Given the description of an element on the screen output the (x, y) to click on. 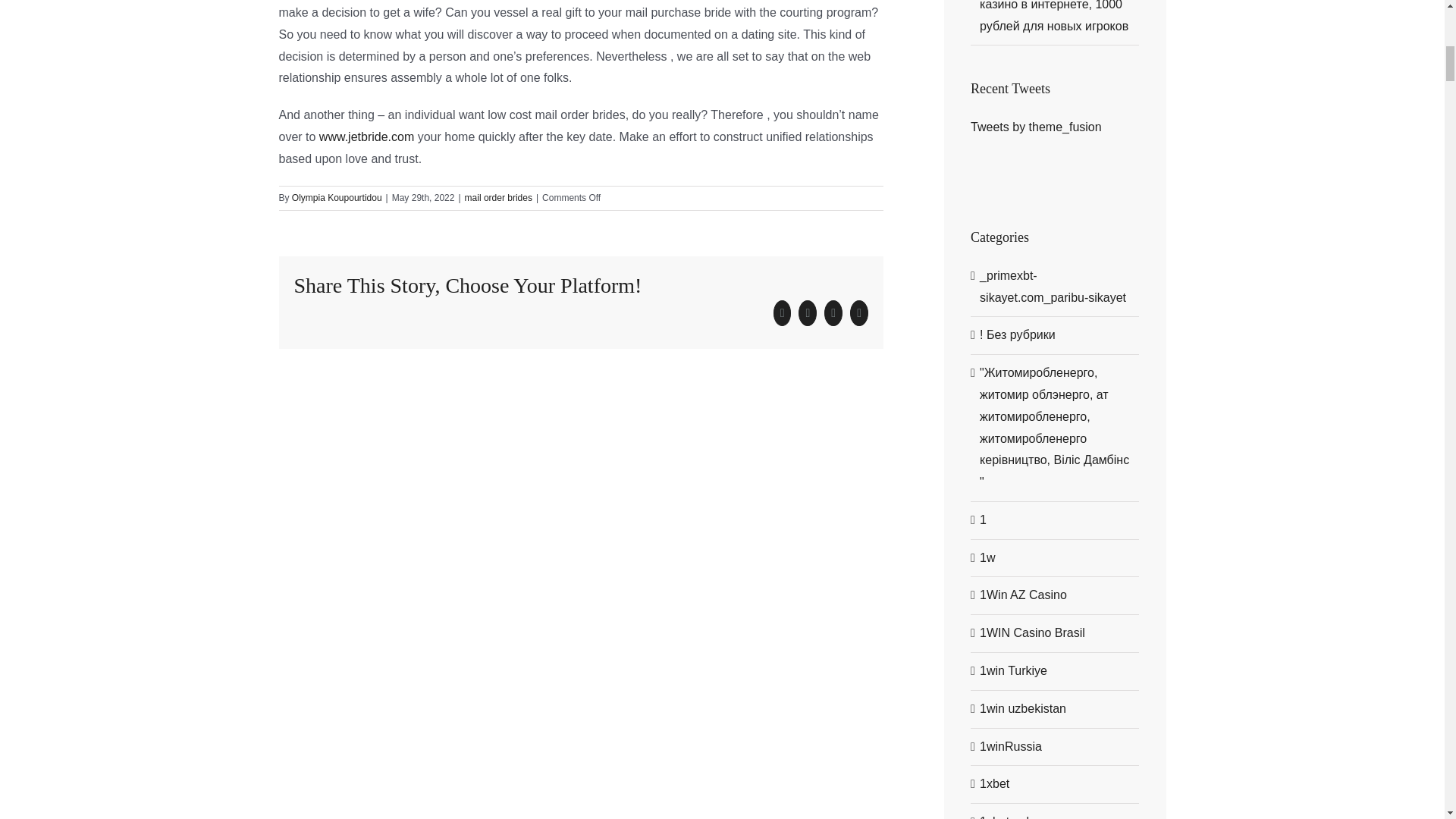
mail order brides (498, 197)
Olympia Koupourtidou (336, 197)
Posts by Olympia Koupourtidou (336, 197)
www.jetbride.com (365, 136)
